Given the description of an element on the screen output the (x, y) to click on. 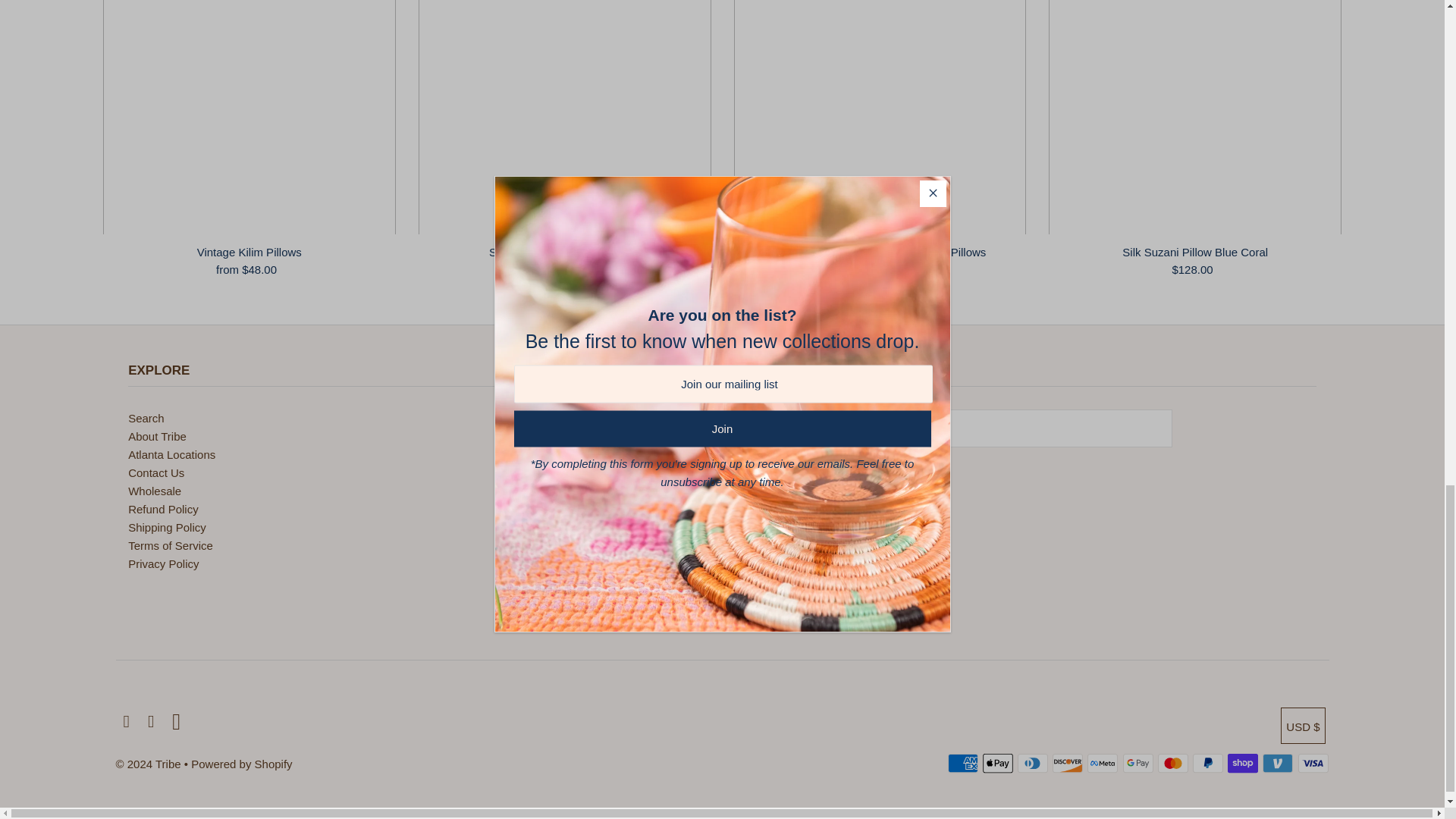
Discover (1067, 763)
Silk Suzani Pillow Blue Coral (1194, 117)
Mastercard (1172, 763)
Meta Pay (1102, 763)
One of a Kind Vintage Sari Ribbon Pillows (879, 117)
Google Pay (1137, 763)
American Express (962, 763)
Diners Club (1032, 763)
Visa (1312, 763)
Apple Pay (997, 763)
Shop Pay (1242, 763)
Vintage Kilim Pillows (249, 117)
Silk Suzani Pillow Blush Coral (565, 117)
Venmo (1277, 763)
Join (807, 465)
